Given the description of an element on the screen output the (x, y) to click on. 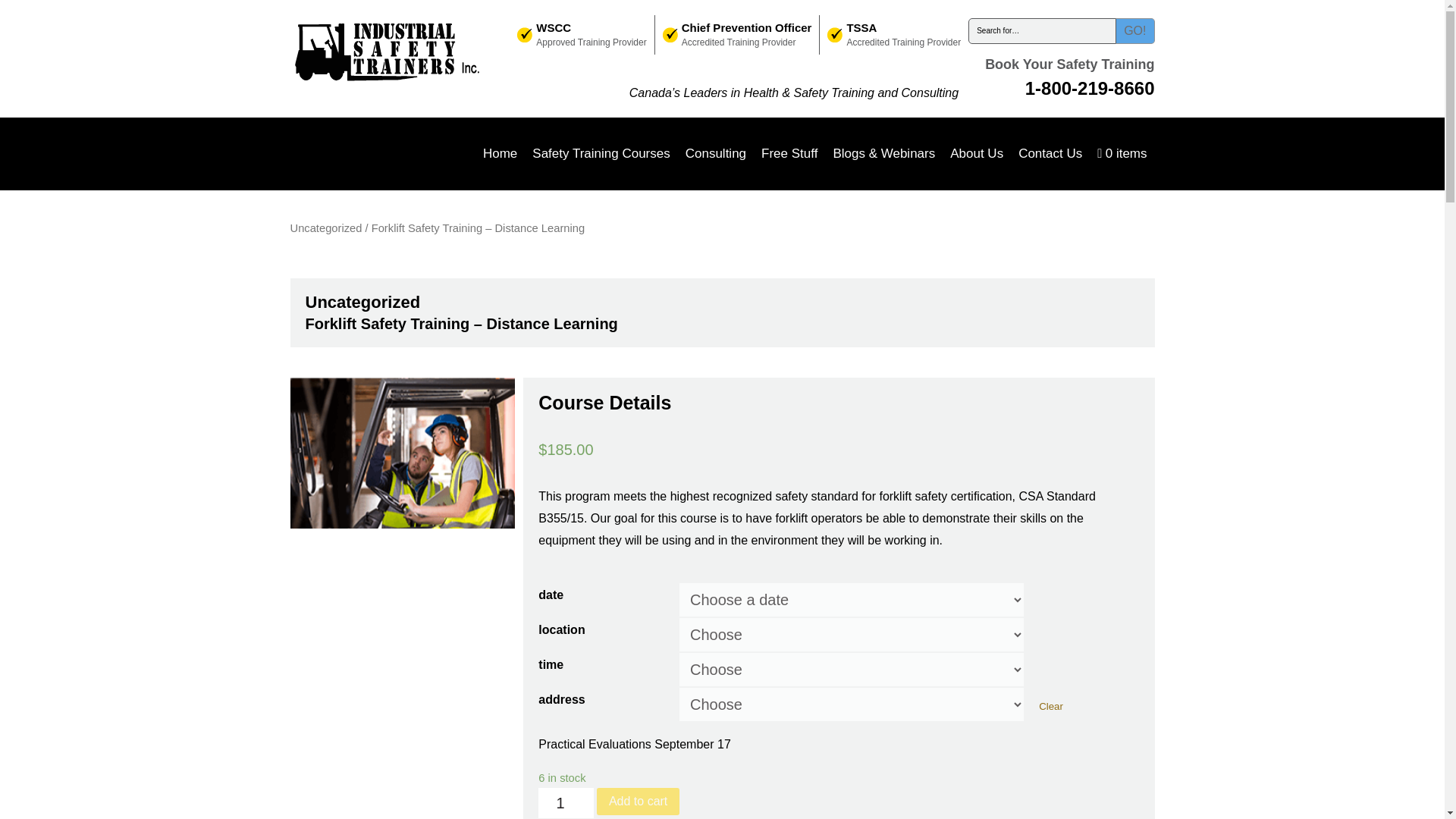
Home (499, 153)
Consulting (715, 153)
1-800-219-8660 (1089, 87)
Add to cart (637, 800)
Forklift Safety Training 1 (401, 452)
Safety Training Courses (600, 153)
GO! (1135, 31)
GO! (1135, 31)
Qty (566, 802)
Contact Us (1049, 153)
0 items (1122, 153)
Start shopping (1122, 153)
Search for: (1042, 31)
Clear (1050, 706)
Free Stuff (788, 153)
